Given the description of an element on the screen output the (x, y) to click on. 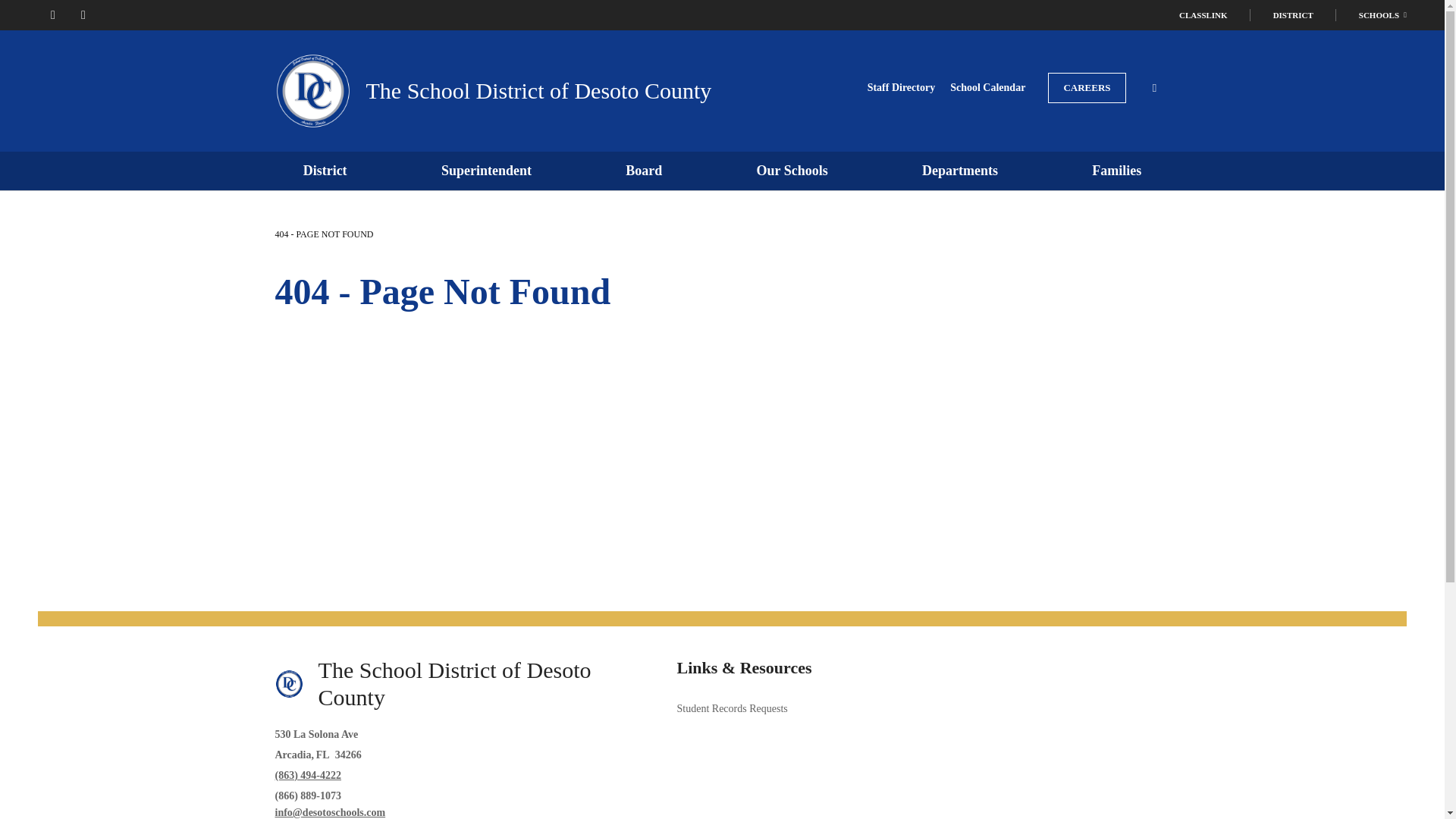
Email (330, 812)
